Given the description of an element on the screen output the (x, y) to click on. 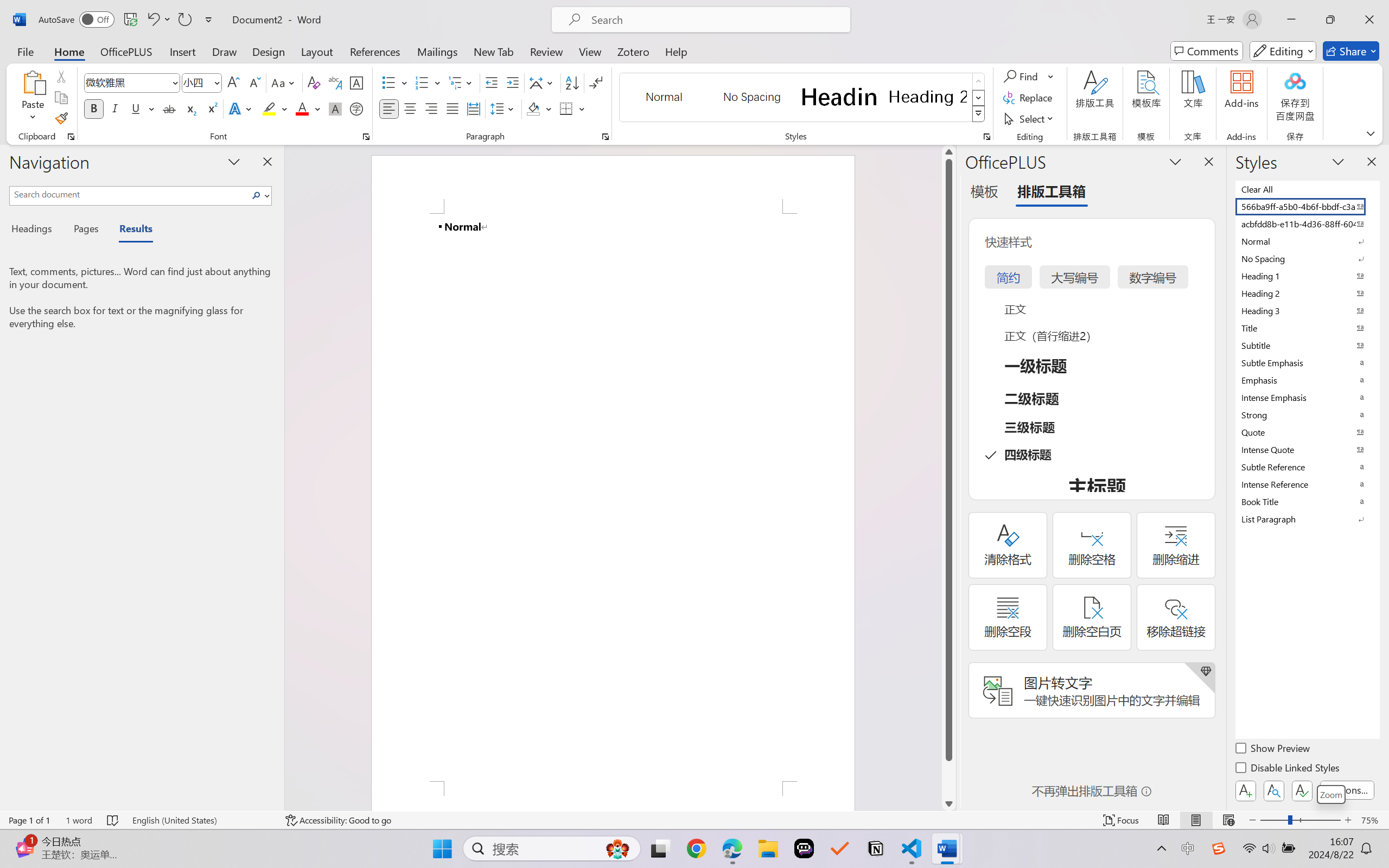
Enclose Characters... (356, 108)
Heading 2 (927, 96)
566ba9ff-a5b0-4b6f-bbdf-c3ab41993fc2 (1306, 206)
Subtle Emphasis (1306, 362)
Spelling and Grammar Check No Errors (113, 819)
